Given the description of an element on the screen output the (x, y) to click on. 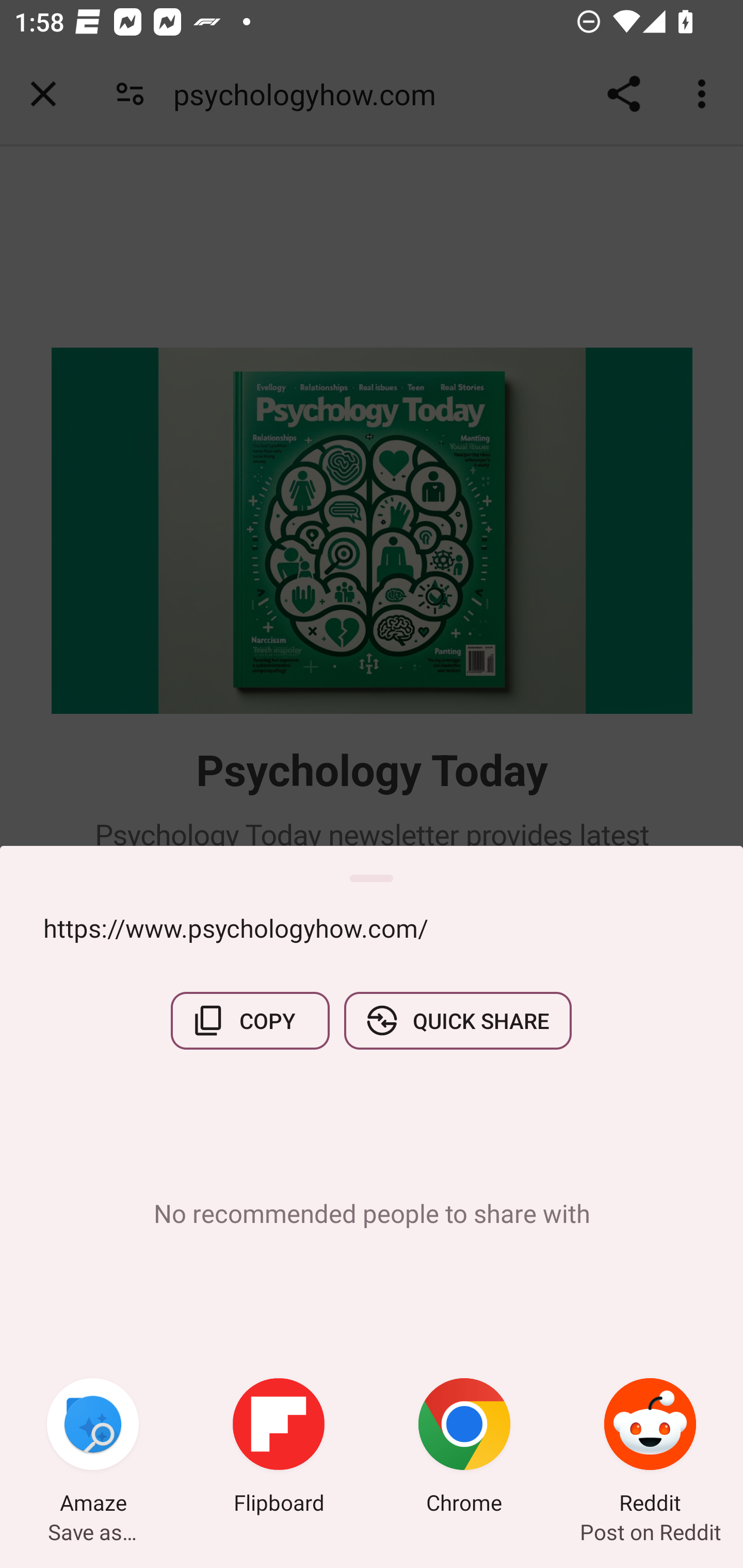
COPY (249, 1020)
QUICK SHARE (457, 1020)
Amaze Save as… (92, 1448)
Flipboard (278, 1448)
Chrome (464, 1448)
Reddit Post on Reddit (650, 1448)
